Given the description of an element on the screen output the (x, y) to click on. 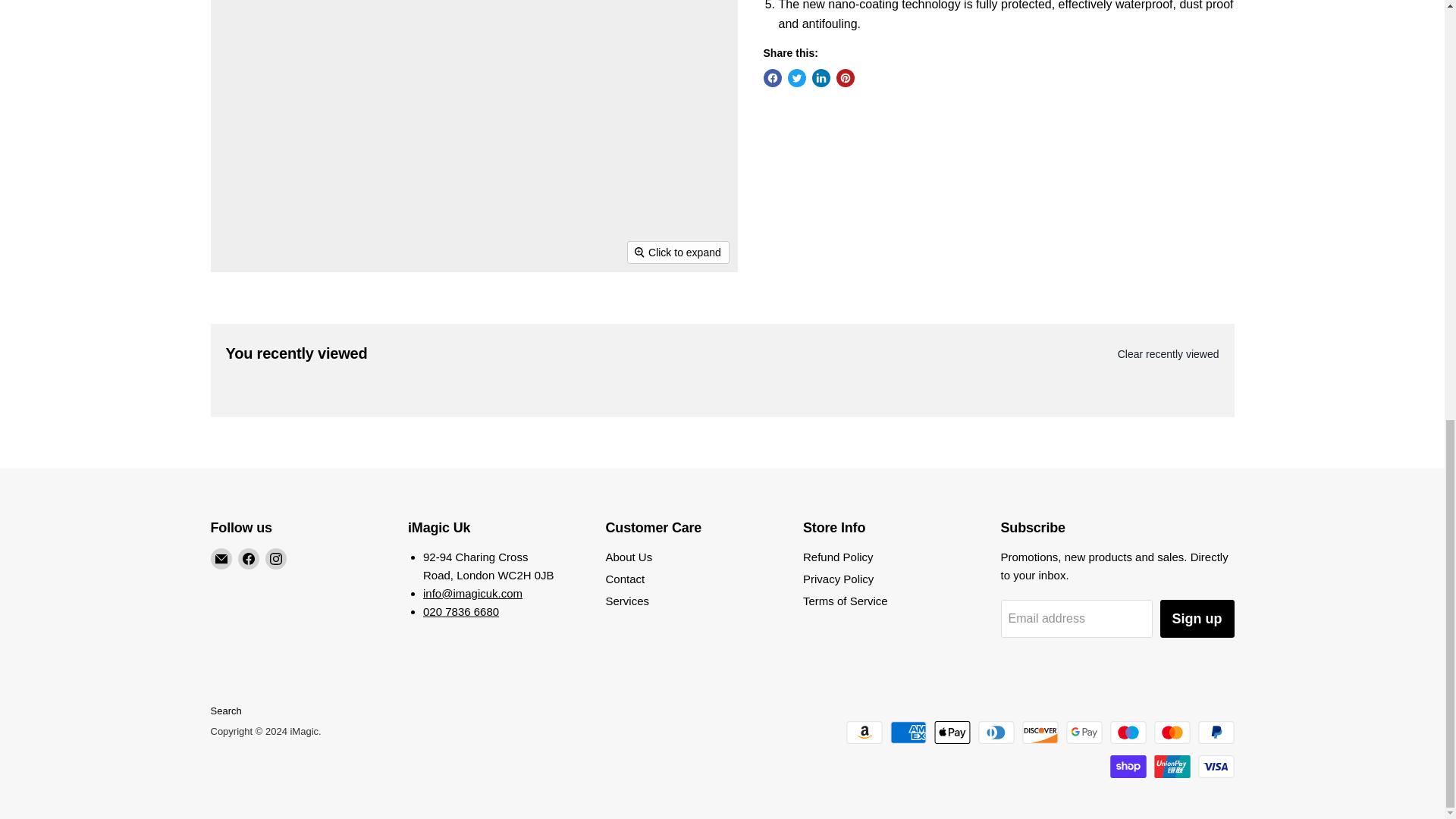
Amazon (863, 732)
Click to expand (678, 251)
Facebook (248, 558)
American Express (907, 732)
Instagram (275, 558)
Diners Club (996, 732)
Apple Pay (952, 732)
Email (221, 558)
